Given the description of an element on the screen output the (x, y) to click on. 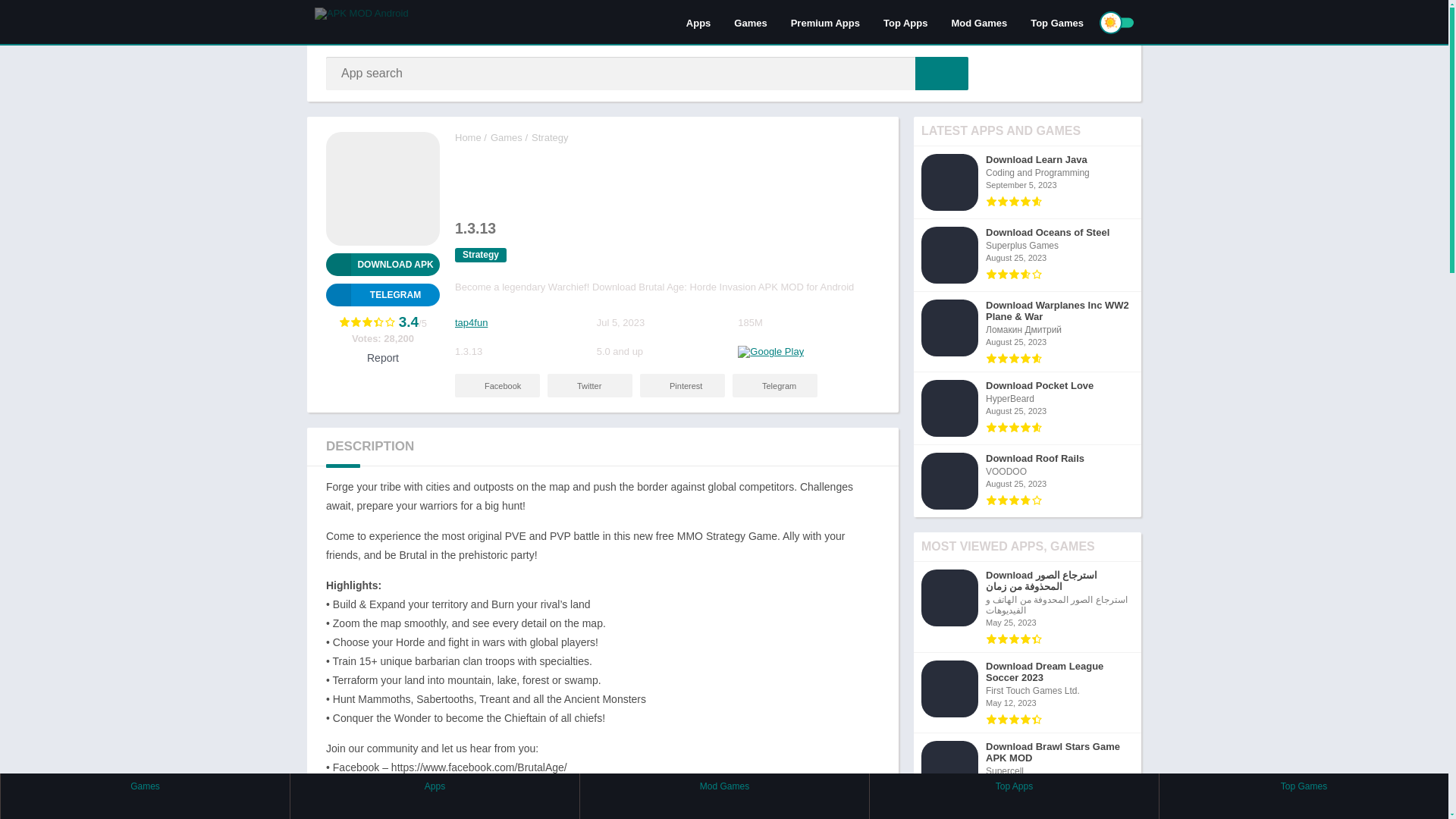
Telegram (382, 294)
Strategy (480, 255)
Top Apps (905, 22)
TELEGRAM (382, 294)
Facebook (497, 385)
APK MOD Android (467, 137)
Premium Apps (824, 22)
Top Games (1056, 22)
Telegram (774, 385)
Report (382, 357)
Mod Games (978, 22)
Pinterest (682, 385)
DOWNLOAD APK (382, 264)
App search (941, 73)
Strategy (549, 137)
